Given the description of an element on the screen output the (x, y) to click on. 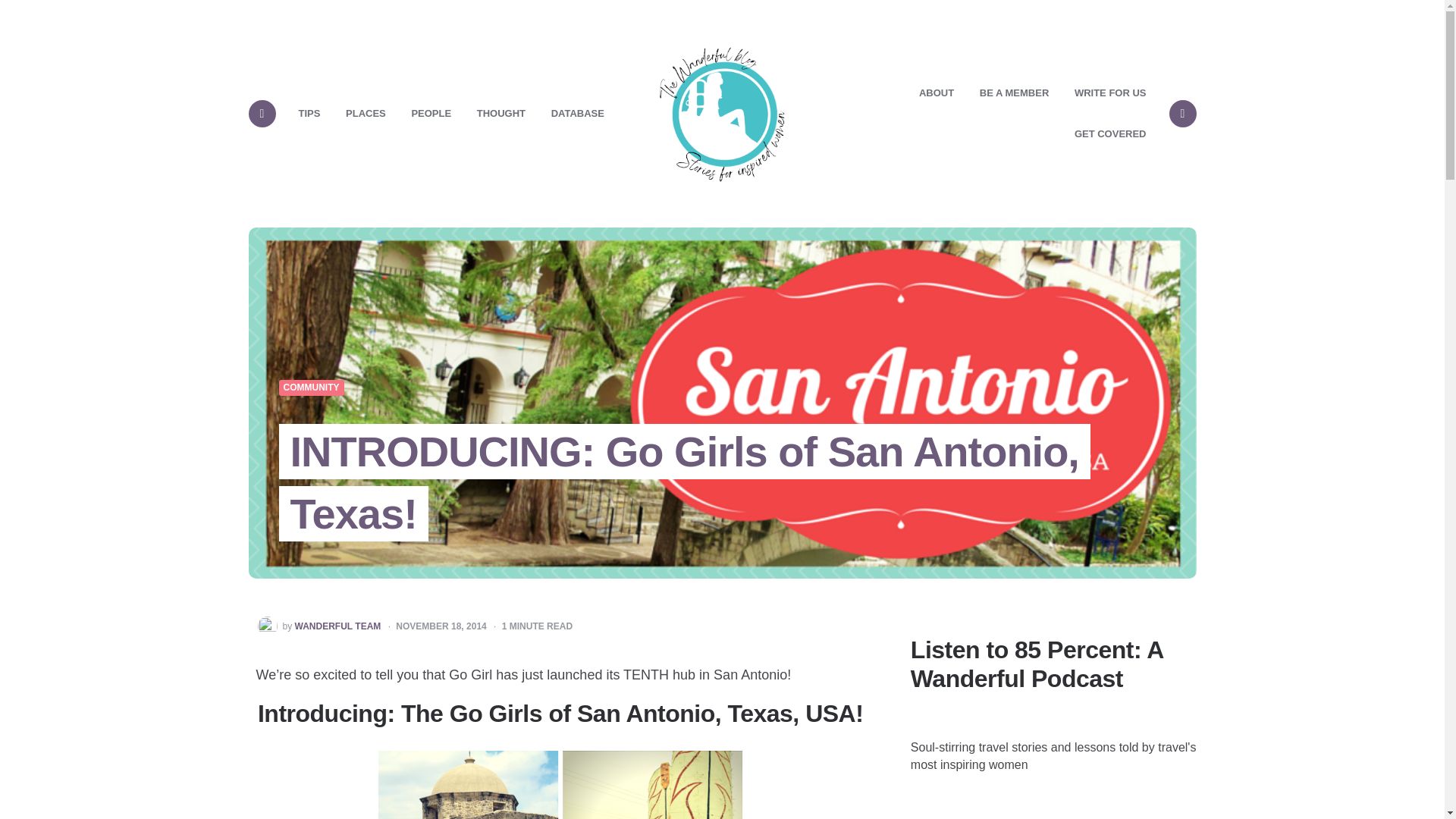
PLACES (365, 113)
ABOUT (936, 92)
PEOPLE (430, 113)
GET COVERED (1109, 133)
WRITE FOR US (1109, 92)
THOUGHT (501, 113)
COMMUNITY (311, 388)
WANDERFUL TEAM (338, 626)
BE A MEMBER (1013, 92)
DATABASE (577, 113)
